Given the description of an element on the screen output the (x, y) to click on. 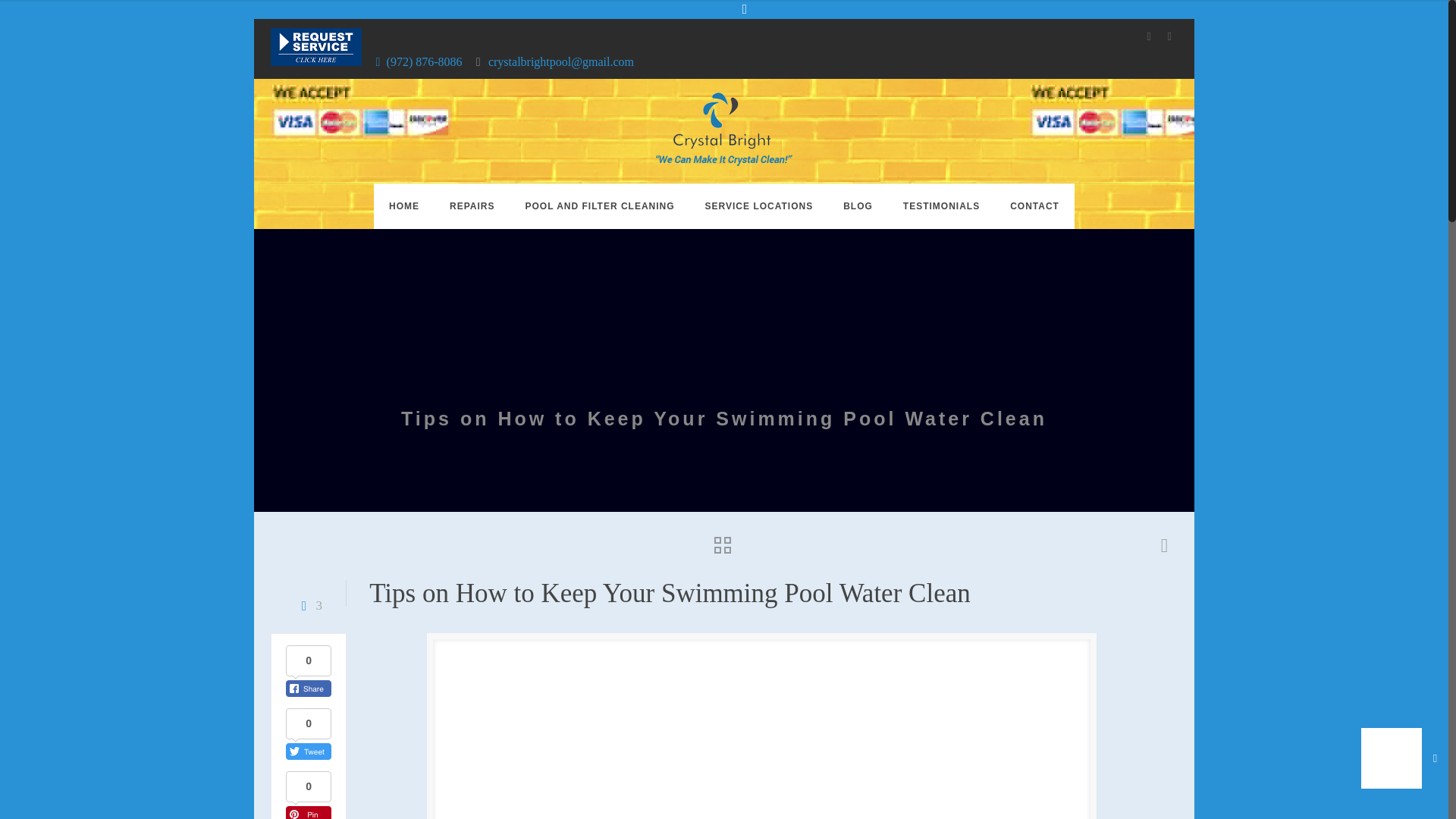
HOME (403, 206)
Facebook (1149, 36)
CONTACT (1034, 206)
Twitter (1169, 36)
SERVICE LOCATIONS (759, 206)
TESTIMONIALS (941, 206)
BLOG (858, 206)
POOL AND FILTER CLEANING (598, 206)
REPAIRS (471, 206)
3 (307, 604)
